Given the description of an element on the screen output the (x, y) to click on. 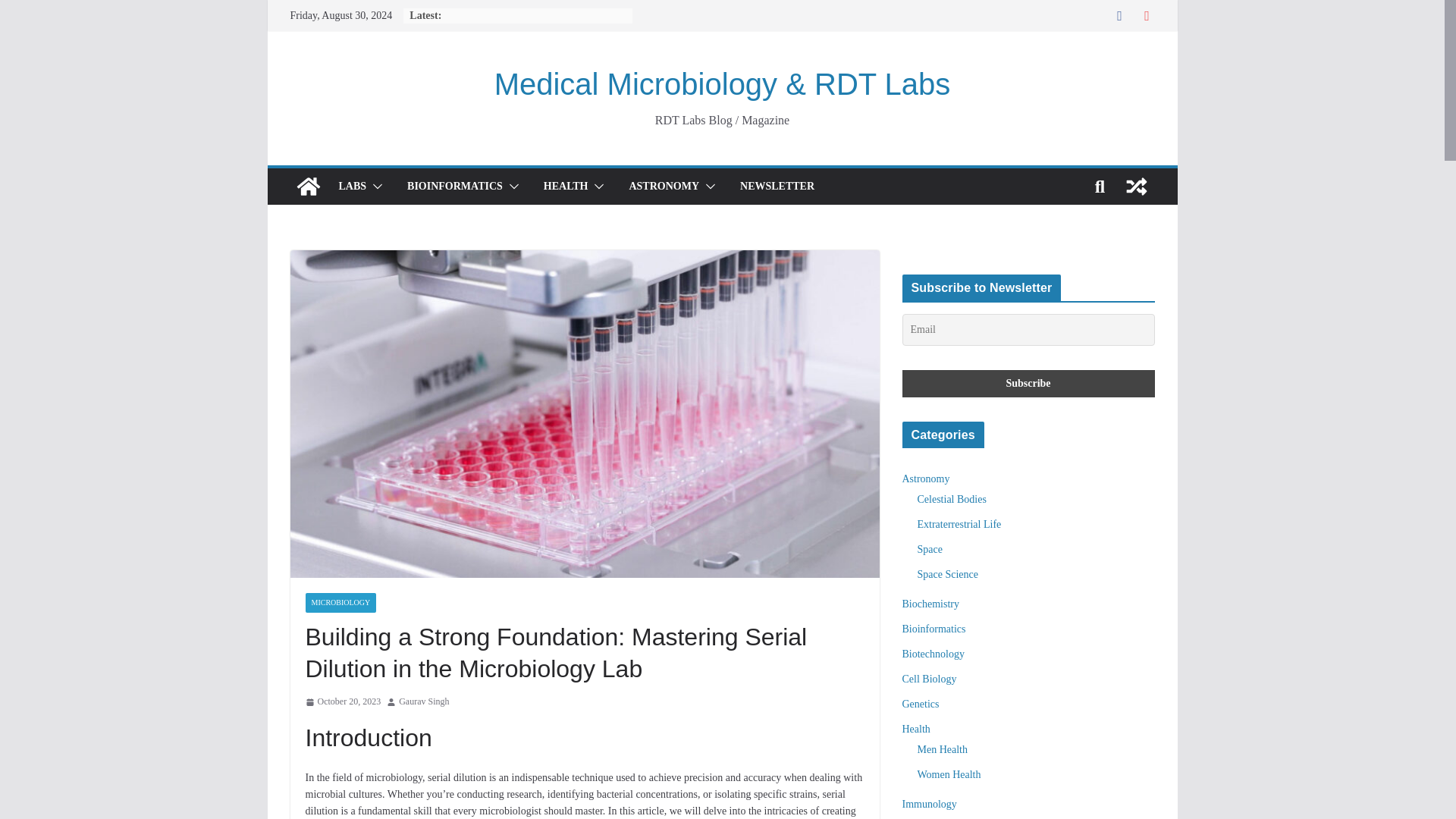
View a random post (1136, 186)
NEWSLETTER (776, 186)
BIOINFORMATICS (454, 186)
LABS (351, 186)
Gaurav Singh (423, 701)
ASTRONOMY (663, 186)
3:44 pm (342, 701)
Subscribe (1028, 383)
HEALTH (565, 186)
October 20, 2023 (342, 701)
